Given the description of an element on the screen output the (x, y) to click on. 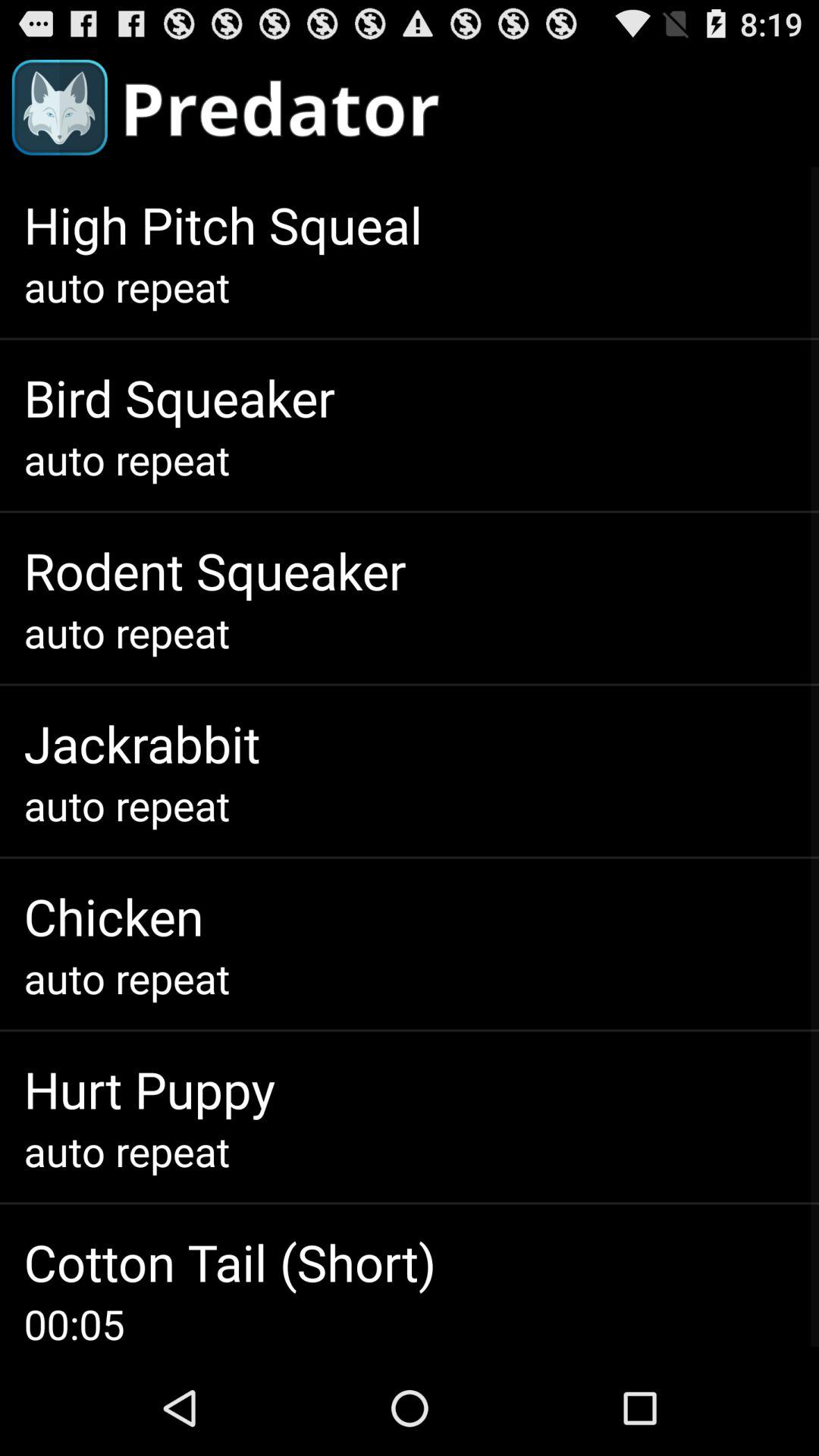
press the item above the auto repeat (149, 1089)
